Given the description of an element on the screen output the (x, y) to click on. 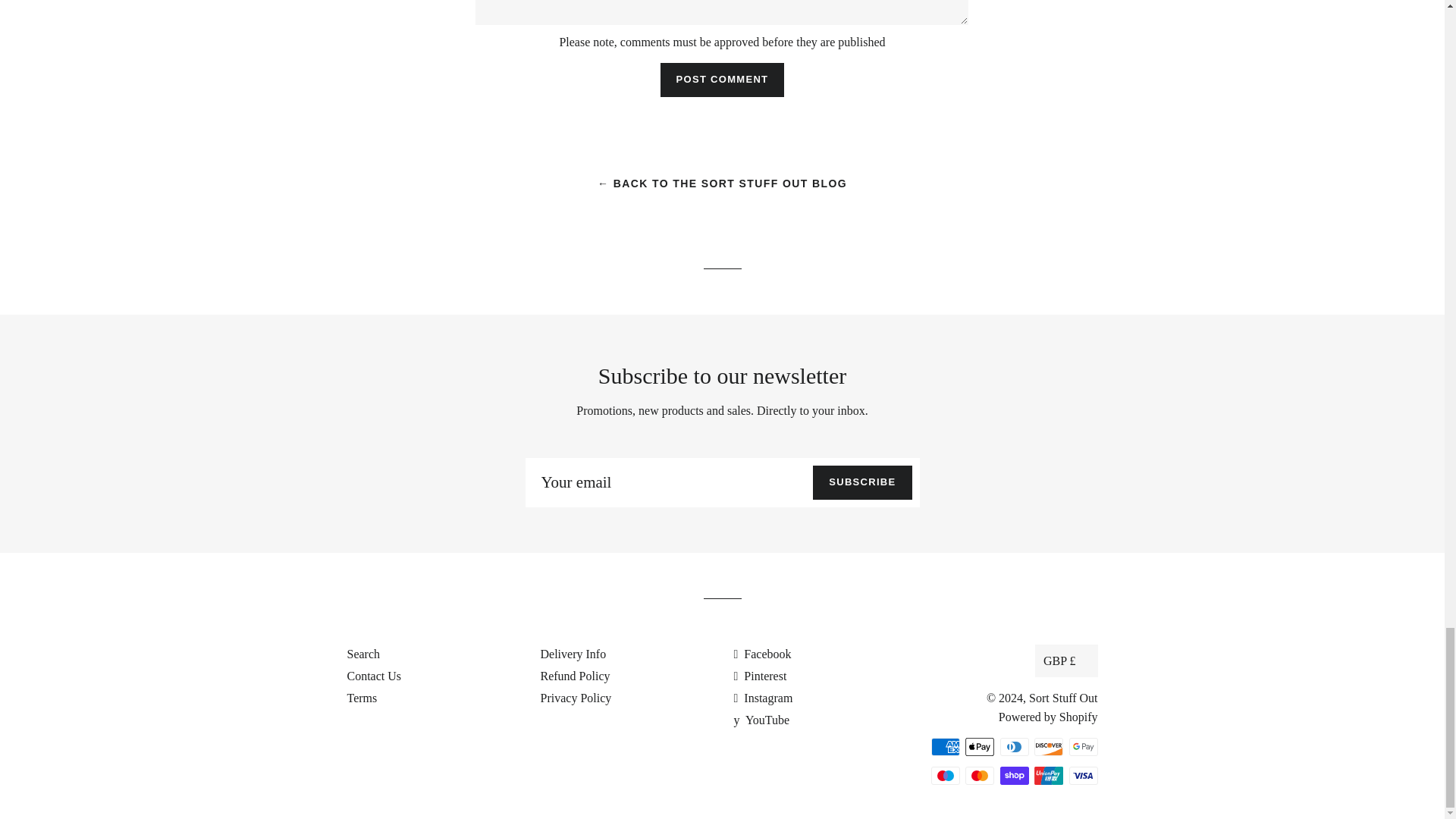
Diners Club (1012, 746)
Union Pay (1047, 775)
Sort Stuff Out on Facebook (762, 653)
American Express (945, 746)
Visa (1082, 775)
Maestro (945, 775)
Discover (1047, 746)
Post comment (722, 79)
Google Pay (1082, 746)
Apple Pay (979, 746)
